Given the description of an element on the screen output the (x, y) to click on. 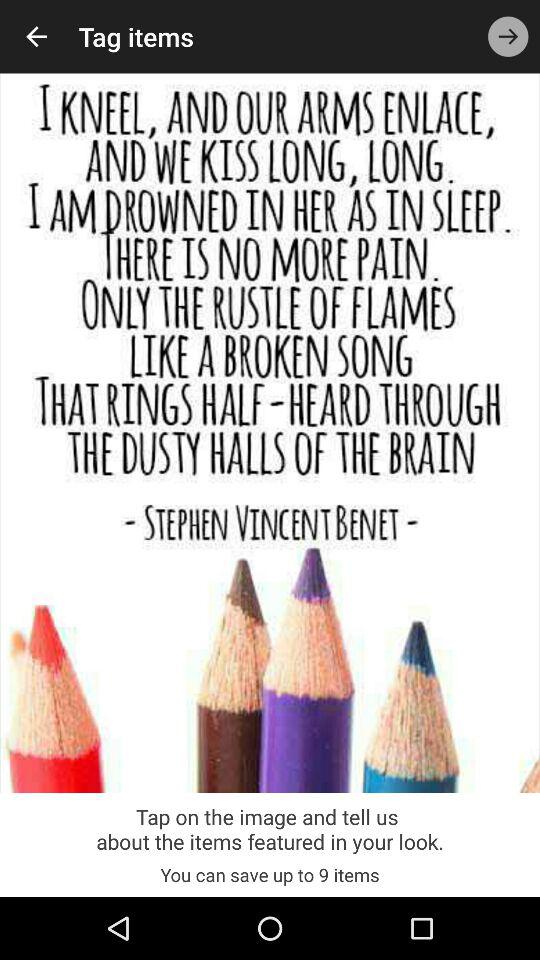
turn on item next to the tag items (508, 36)
